Given the description of an element on the screen output the (x, y) to click on. 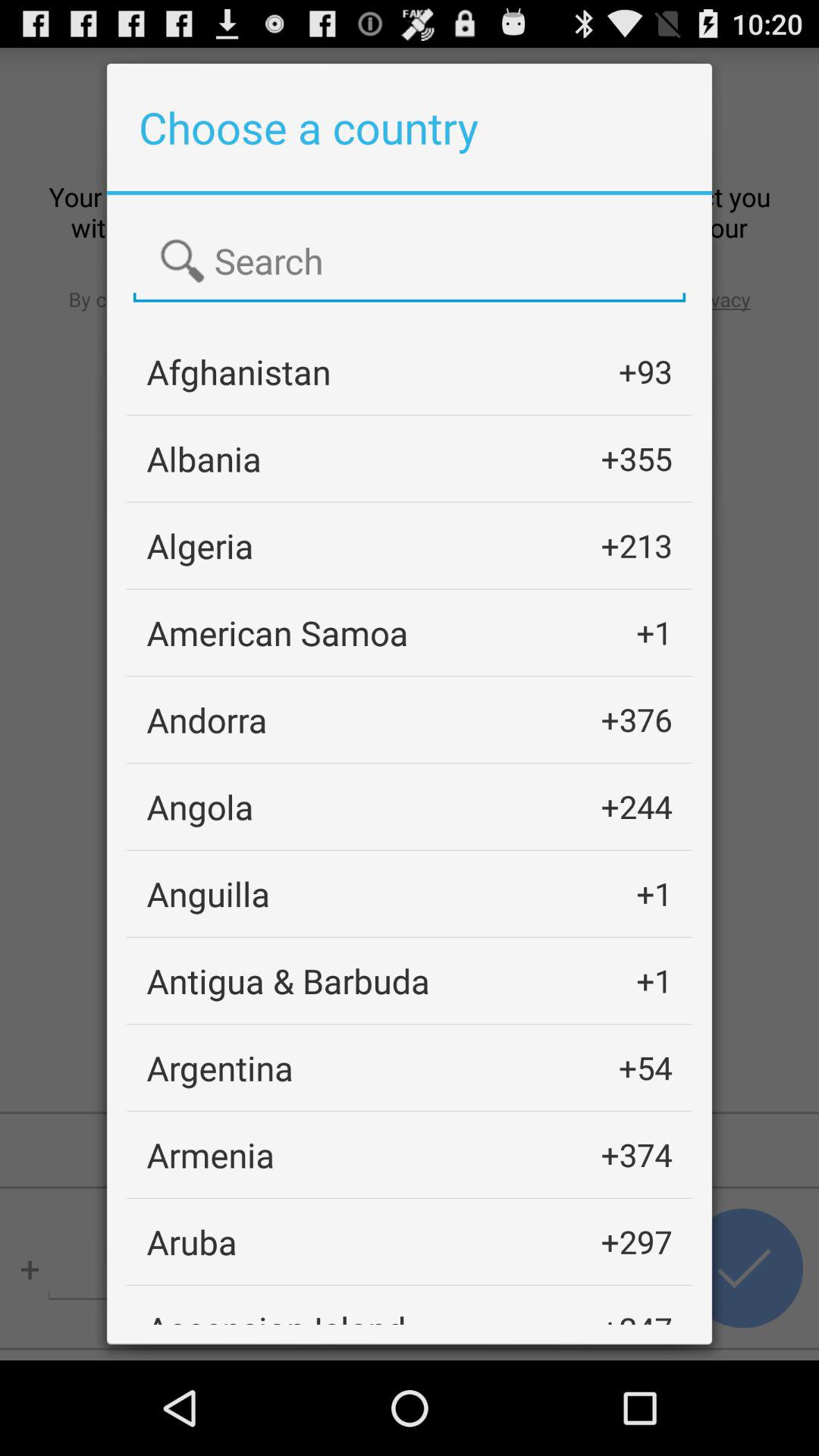
select app to the left of +1 app (208, 893)
